Given the description of an element on the screen output the (x, y) to click on. 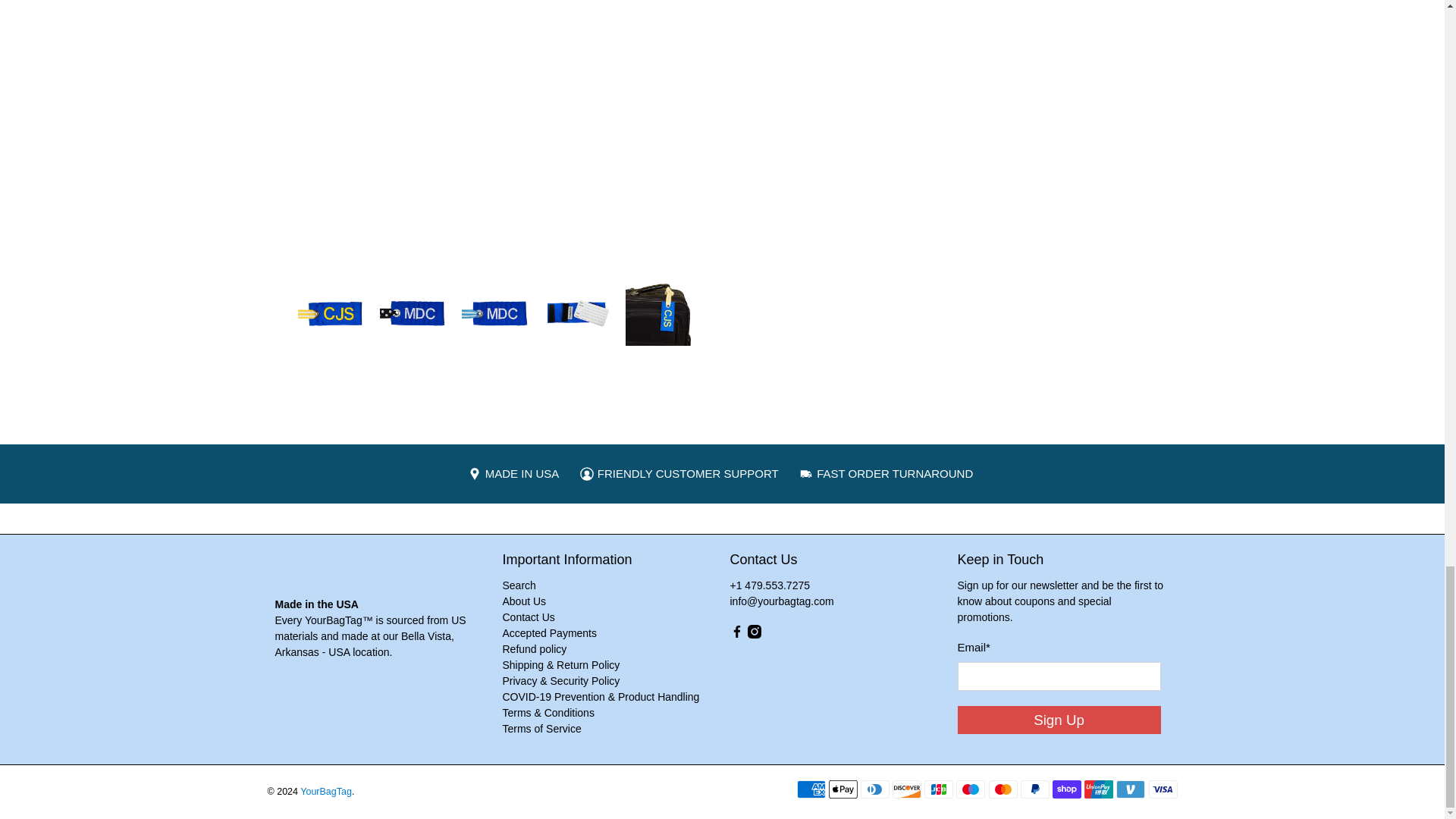
Discover (906, 789)
YourBagTag on Facebook (735, 634)
Diners Club (874, 789)
American Express (810, 789)
YourBagTag on Instagram (754, 634)
YourBagTag (359, 573)
Apple Pay (842, 789)
